Given the description of an element on the screen output the (x, y) to click on. 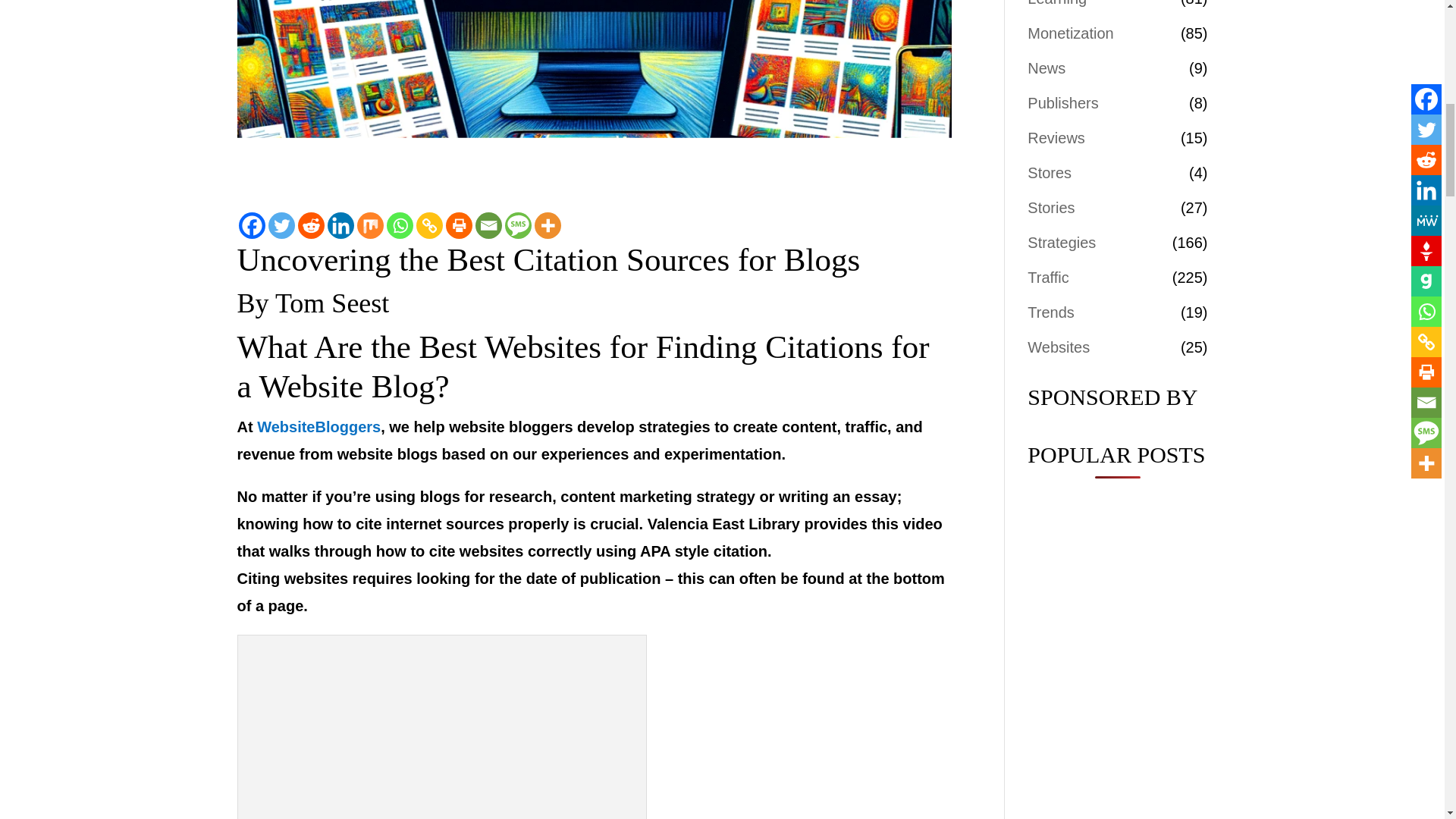
Linkedin (340, 225)
Whatsapp (400, 225)
Reddit (310, 225)
Copy Link (428, 225)
Mix (369, 225)
Facebook (251, 225)
WebsiteBloggers (318, 426)
Tom Seest (331, 303)
Twitter (281, 225)
